Given the description of an element on the screen output the (x, y) to click on. 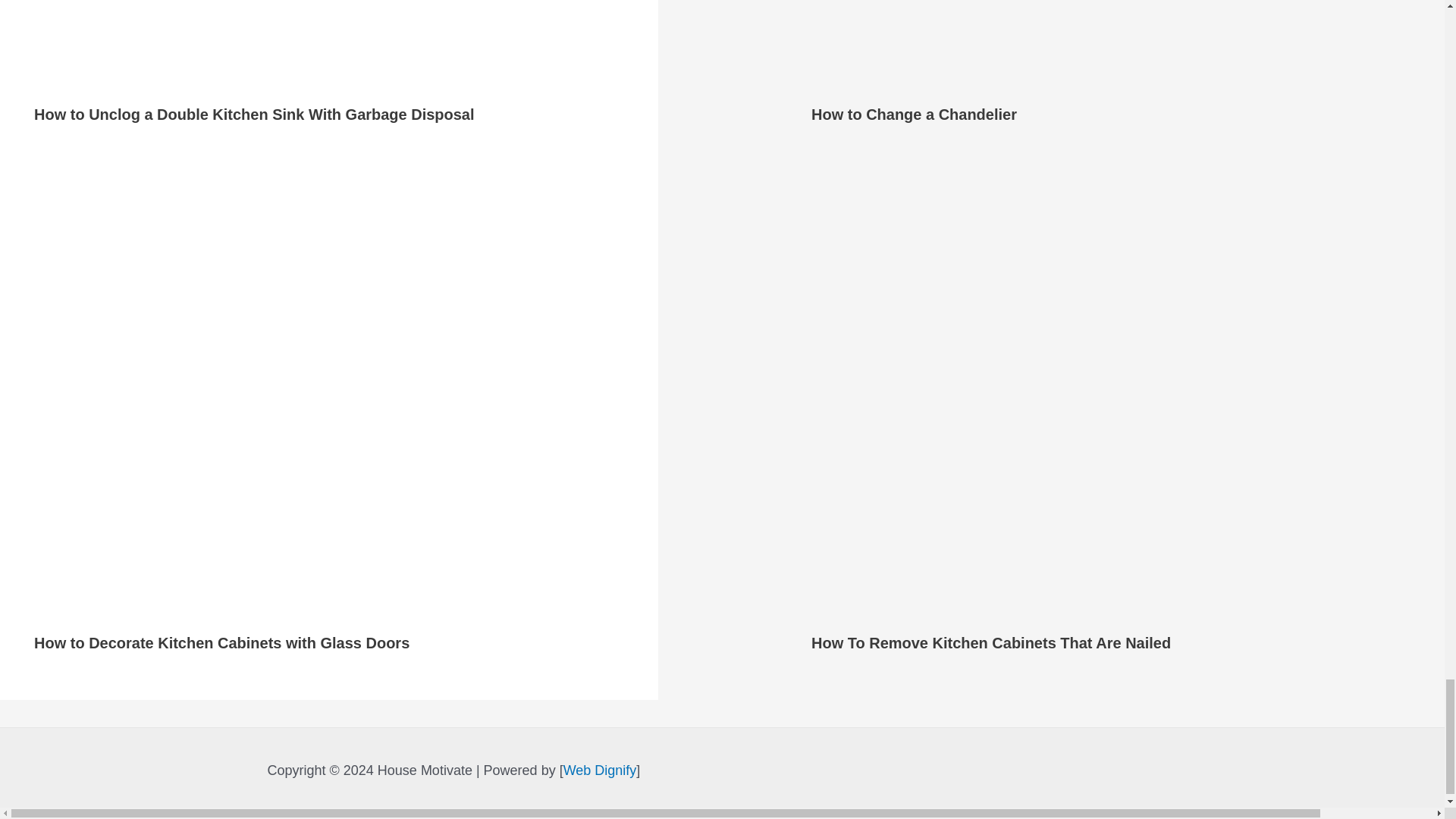
How to Change a Chandelier (913, 114)
How to Unclog a Double Kitchen Sink With Garbage Disposal (253, 114)
How to Decorate Kitchen Cabinets with Glass Doors (221, 642)
How To Remove Kitchen Cabinets That Are Nailed (990, 642)
